Given the description of an element on the screen output the (x, y) to click on. 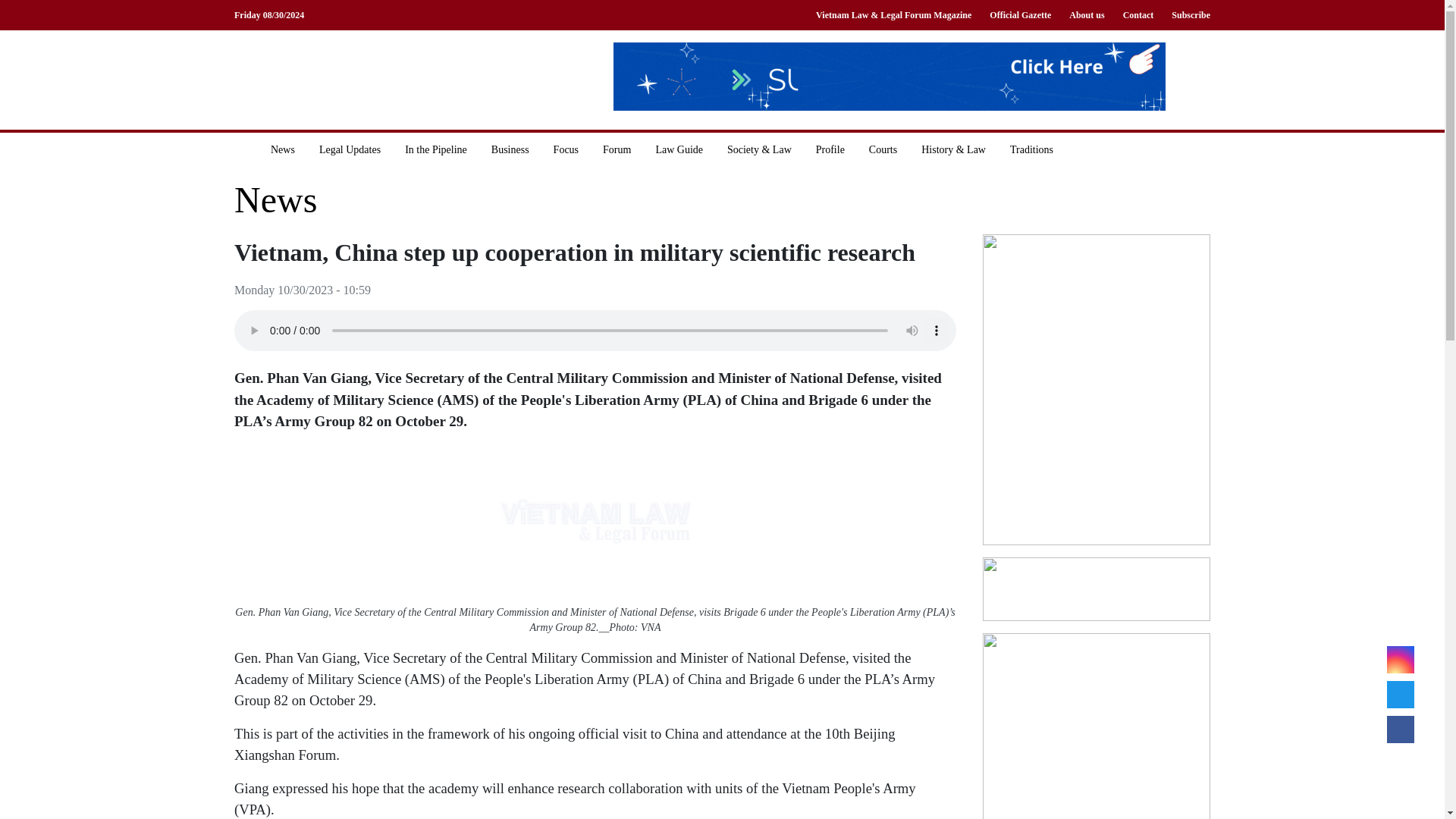
Courts (882, 149)
icon search (1098, 149)
Profile (830, 149)
News (283, 149)
Legal Updates (350, 149)
Focus (566, 149)
Subscribe (1185, 15)
Official Gazette (1019, 15)
Contact (1138, 15)
logo (359, 79)
